Given the description of an element on the screen output the (x, y) to click on. 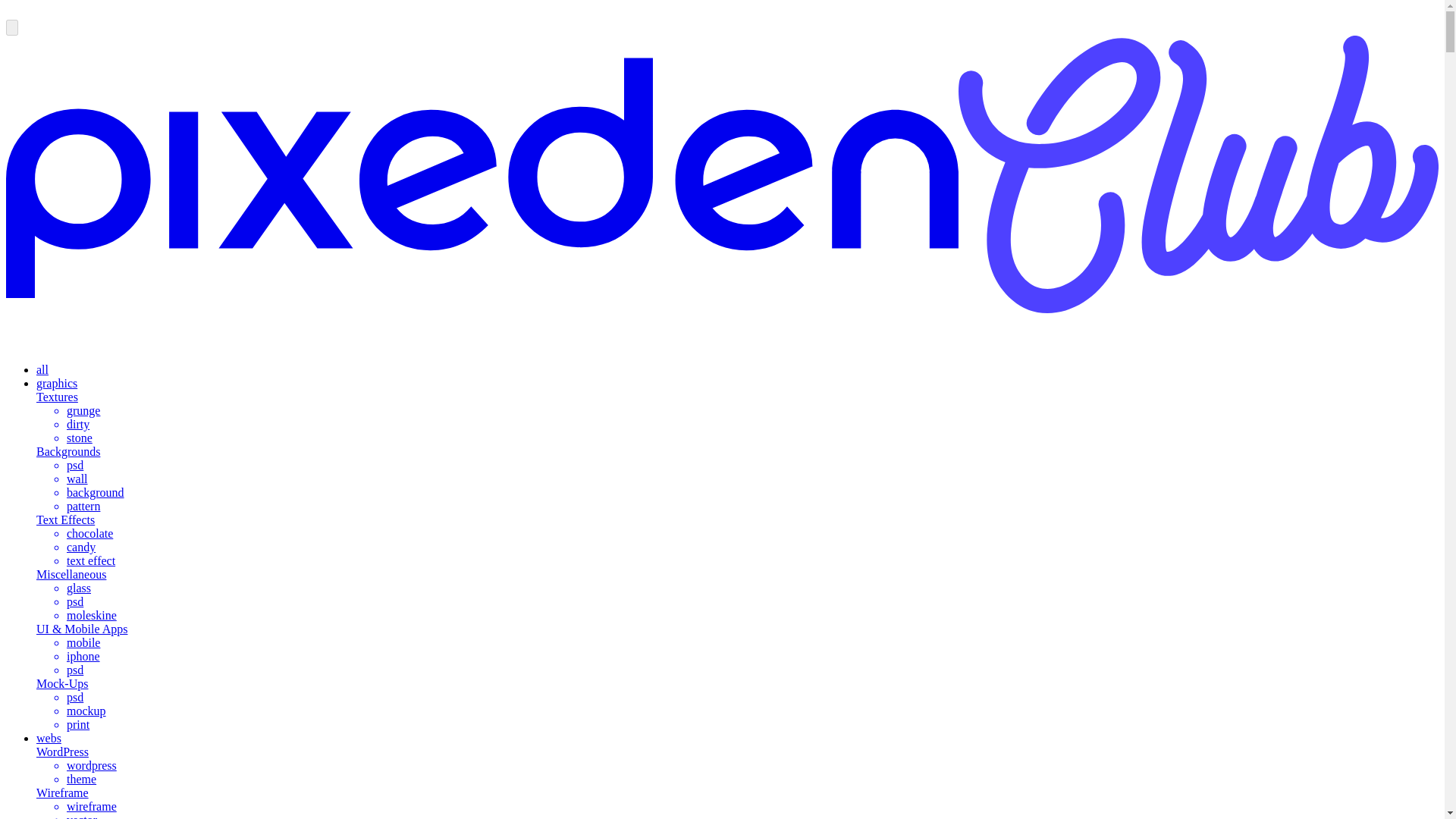
graphics (56, 382)
all (42, 369)
webs (48, 738)
